Given the description of an element on the screen output the (x, y) to click on. 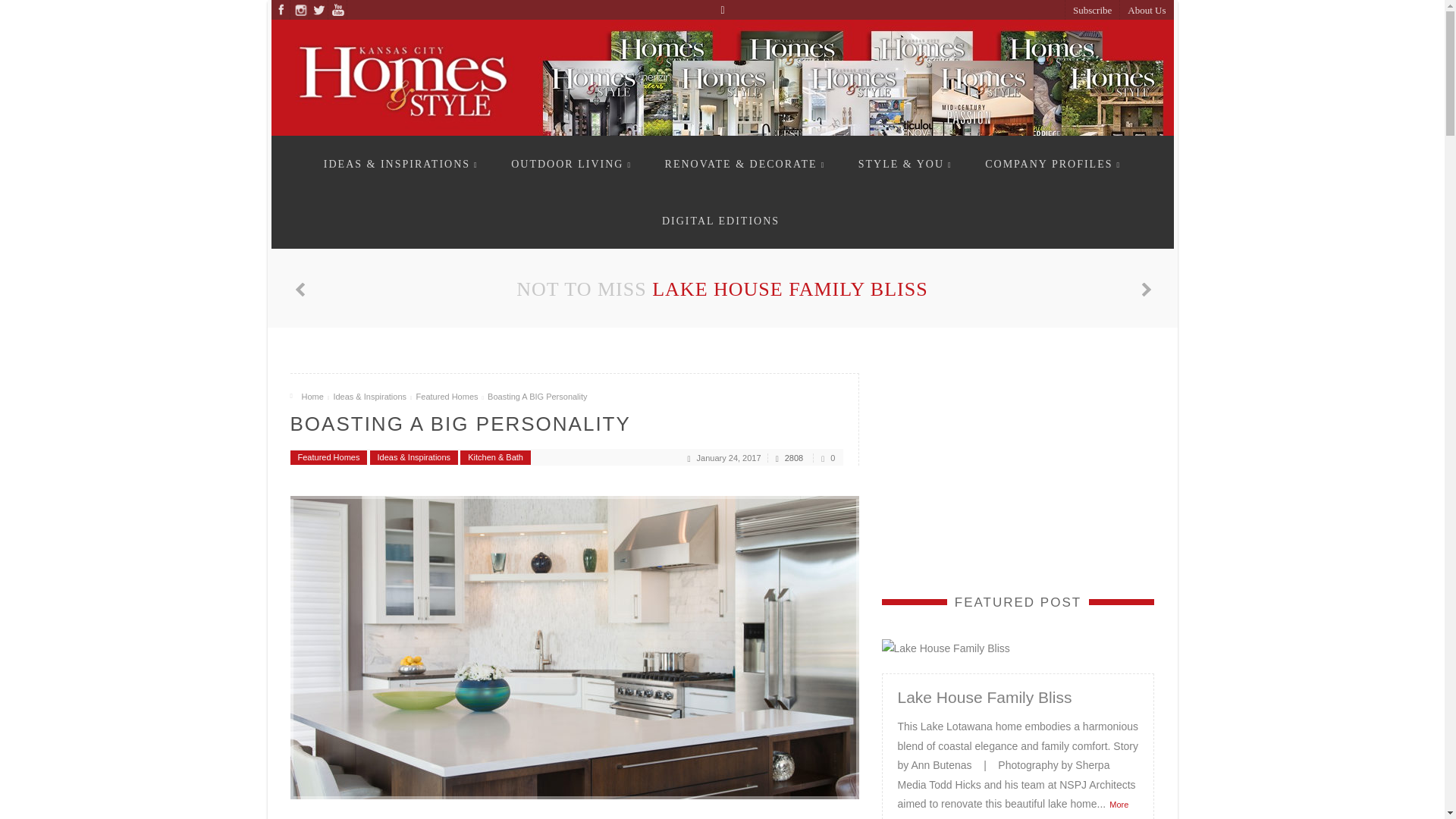
Skip to content (333, 143)
Follow us on Facebook (279, 9)
Follow us on YouTube (336, 9)
Follow us on Twitter (318, 9)
Follow us on Instagram (298, 9)
Lake House Family Bliss (789, 289)
About Us (1146, 10)
Subscribe (1091, 10)
